Given the description of an element on the screen output the (x, y) to click on. 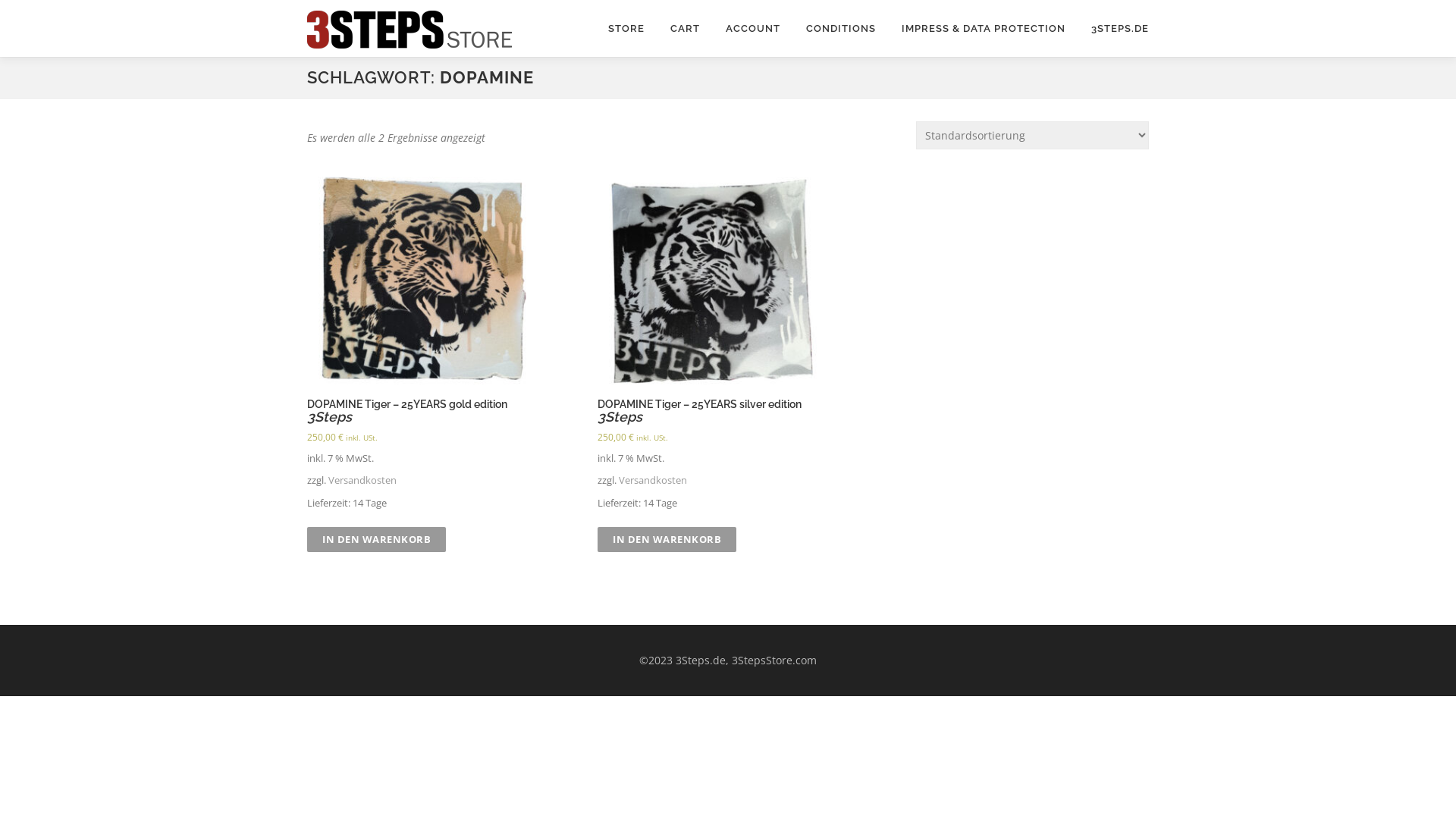
Versandkosten Element type: text (652, 479)
STORE Element type: text (626, 28)
3STEPS.DE Element type: text (1113, 28)
ACCOUNT Element type: text (752, 28)
IN DEN WARENKORB Element type: text (376, 539)
CART Element type: text (684, 28)
IMPRESS & DATA PROTECTION Element type: text (983, 28)
Versandkosten Element type: text (362, 479)
IN DEN WARENKORB Element type: text (666, 539)
CONDITIONS Element type: text (840, 28)
